Given the description of an element on the screen output the (x, y) to click on. 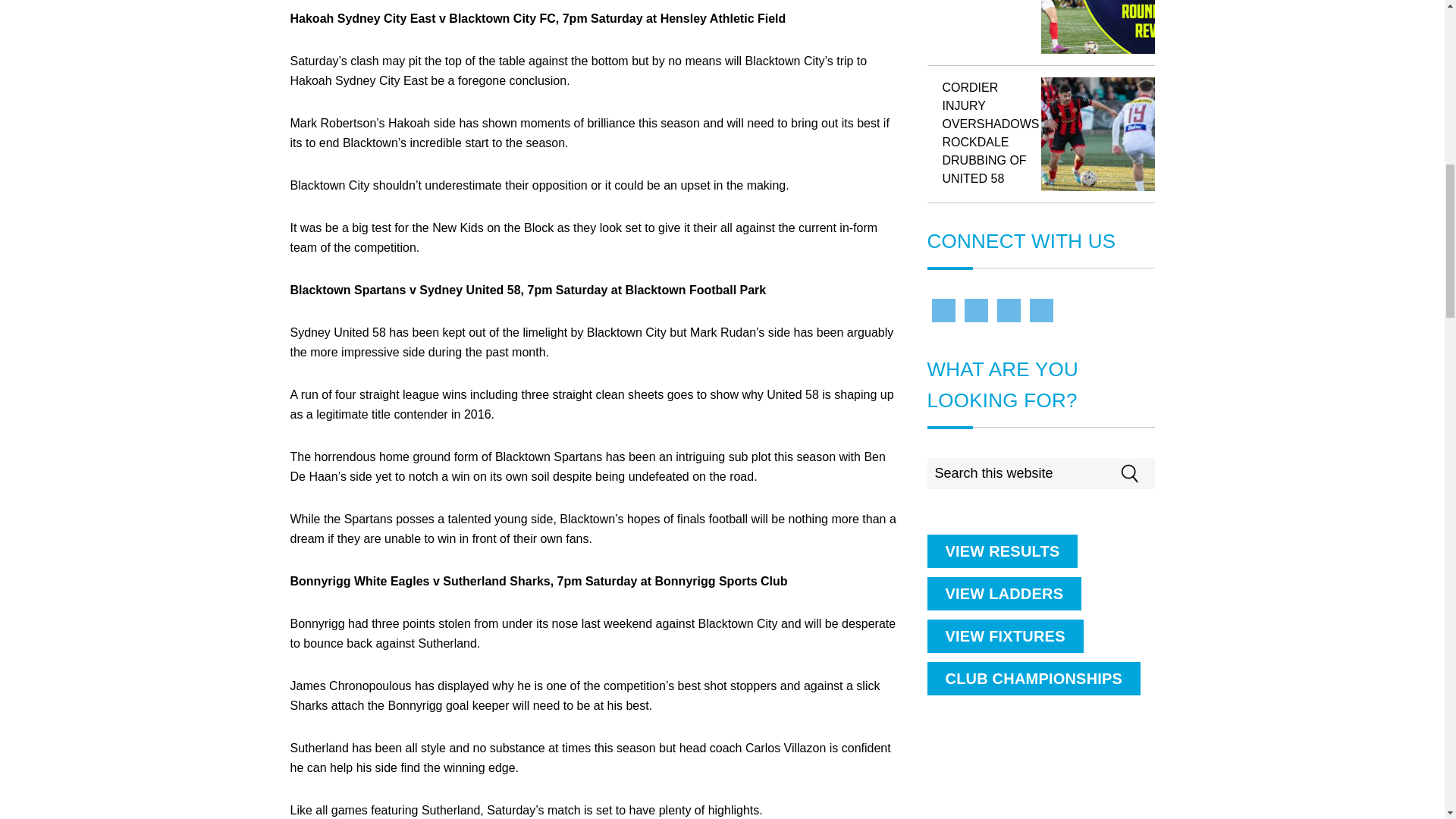
Search (1172, 466)
Search (1172, 466)
